Given the description of an element on the screen output the (x, y) to click on. 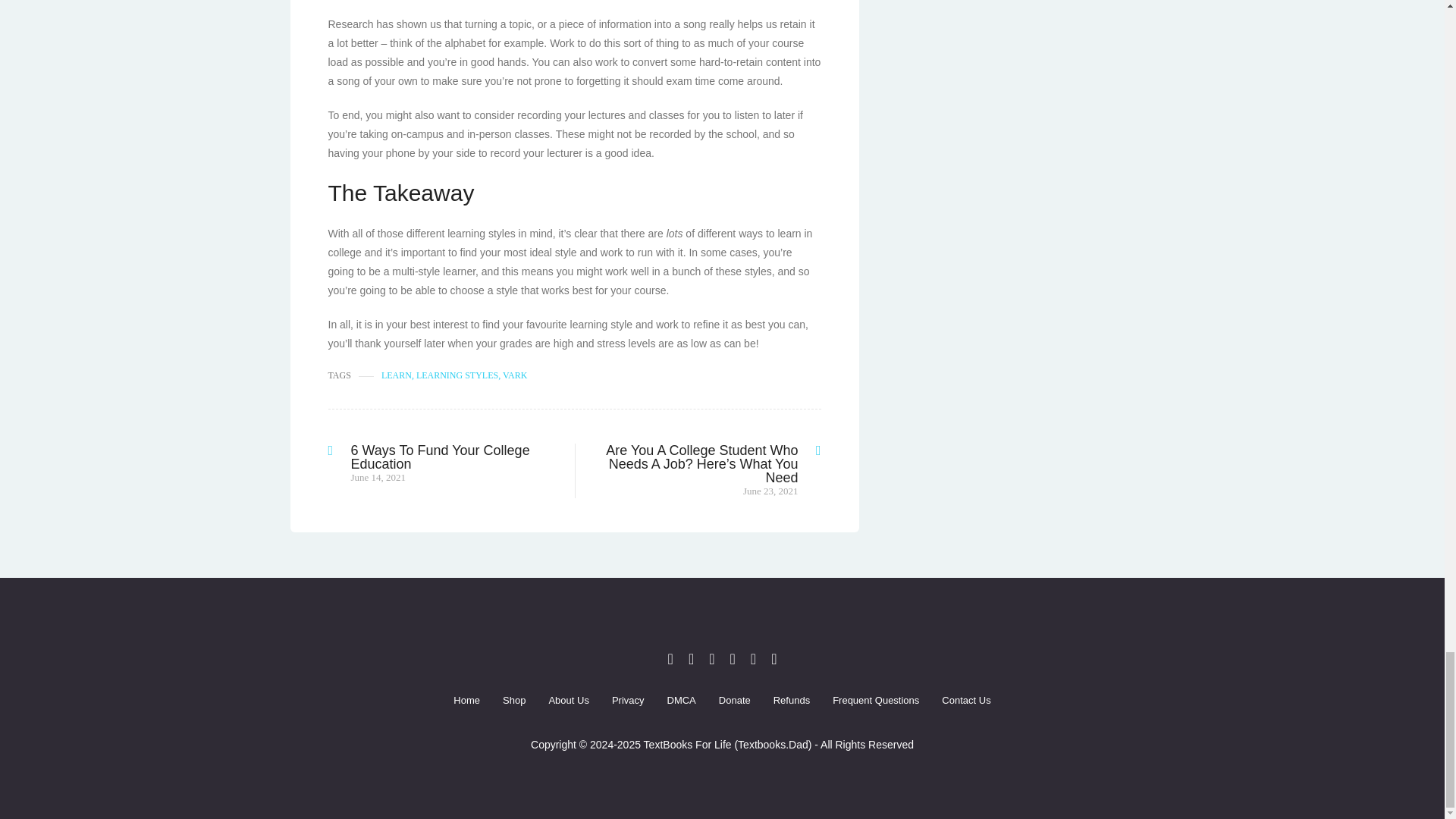
VARK (514, 375)
LEARNING STYLES (456, 375)
LEARN (396, 375)
